Given the description of an element on the screen output the (x, y) to click on. 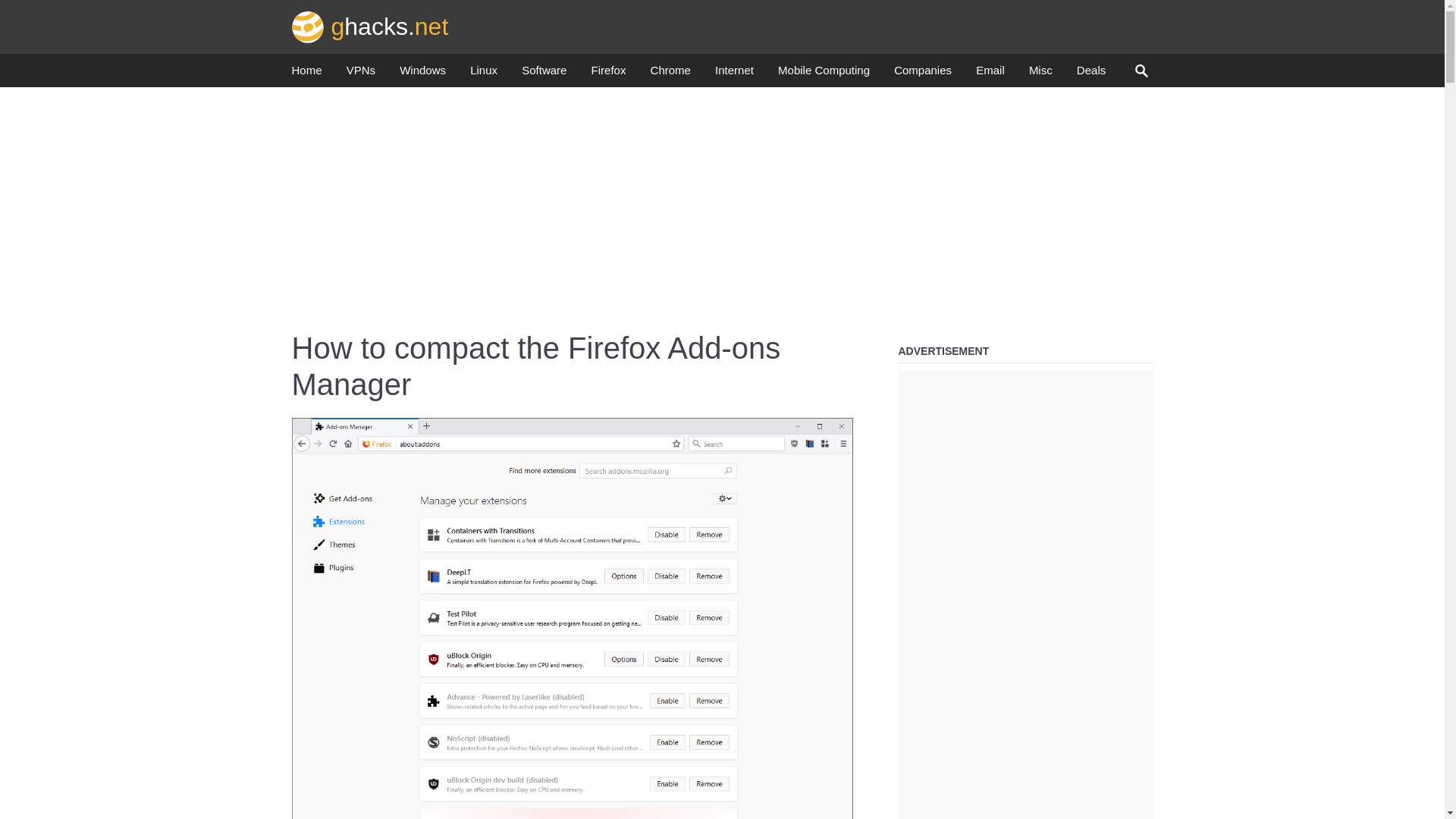
Home (306, 73)
Software (543, 73)
Chrome (670, 73)
Linux (483, 73)
Internet (734, 73)
Email (989, 73)
Companies (922, 73)
Mobile Computing (823, 73)
Deals (1091, 73)
ghacks.net (369, 26)
VPNs (360, 73)
Firefox (608, 73)
Windows (421, 73)
Misc (1040, 73)
